Given the description of an element on the screen output the (x, y) to click on. 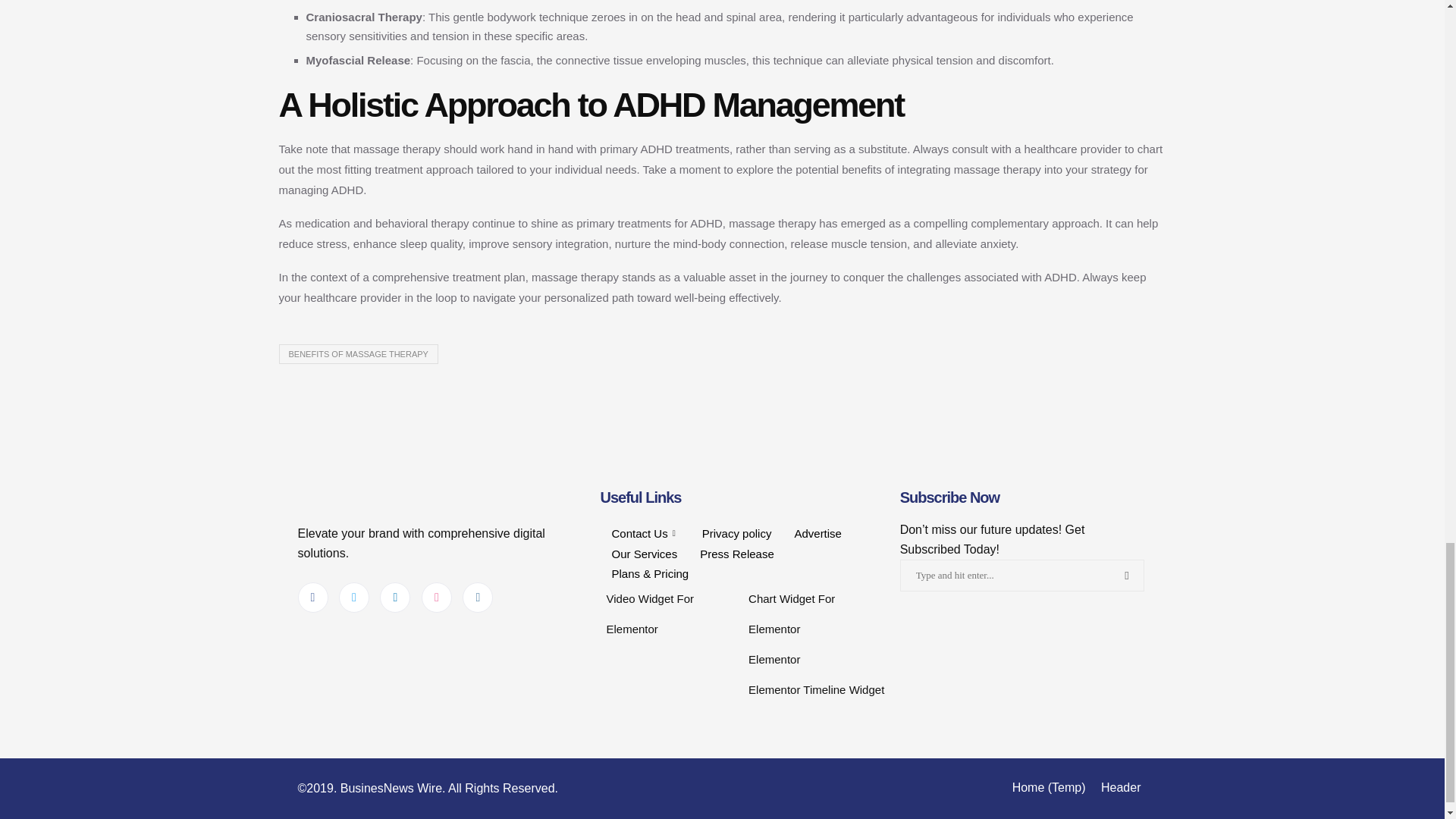
Privacy policy (736, 533)
BENEFITS OF MASSAGE THERAPY (358, 353)
Our Services (643, 553)
Advertise (818, 533)
Contact Us (644, 533)
